Given the description of an element on the screen output the (x, y) to click on. 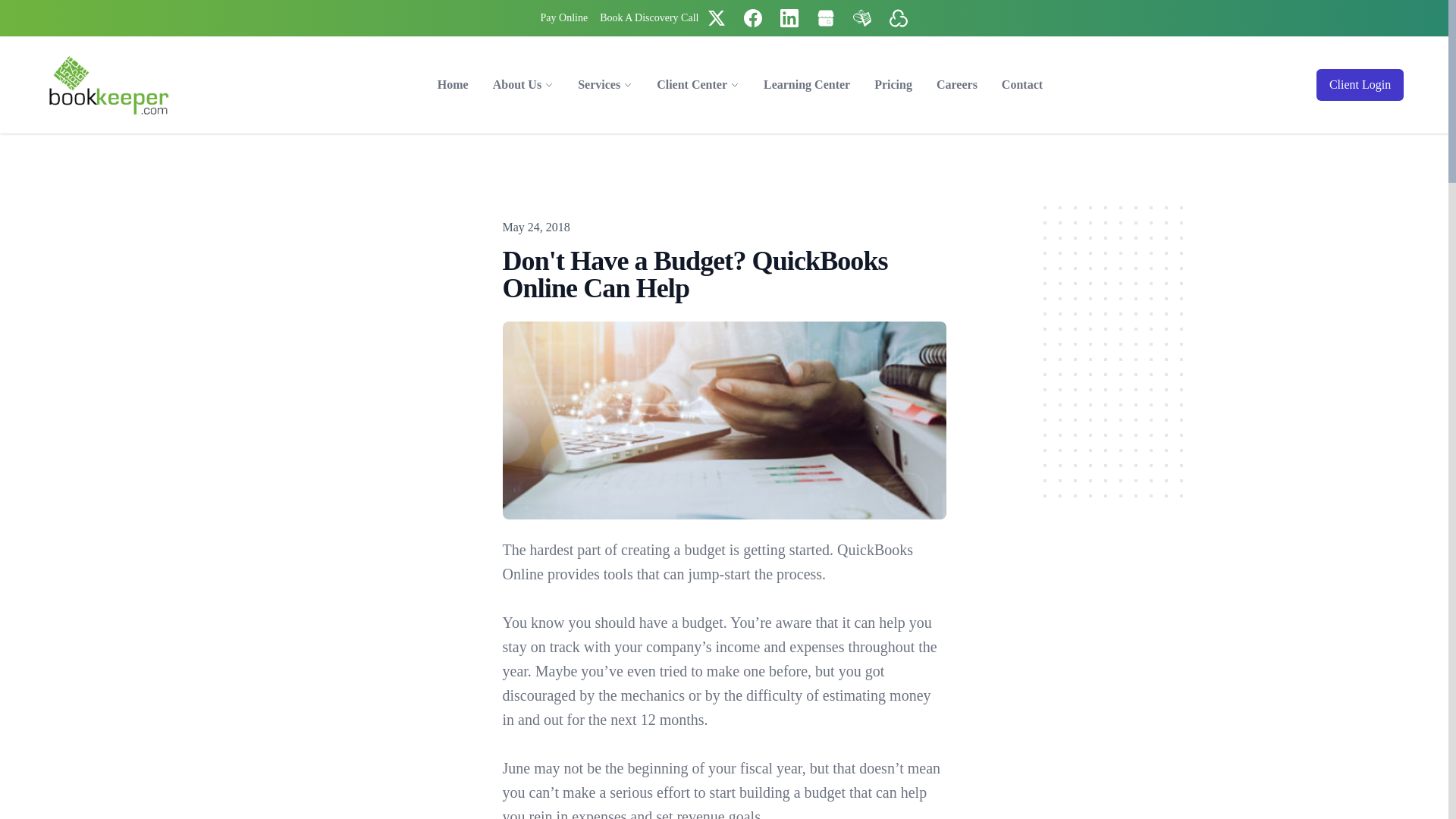
Home (452, 84)
Bookkeeper.com (108, 84)
Client Login (1359, 84)
Learning Center (806, 84)
Client Center (691, 85)
Contact (1022, 84)
Book A Discovery Call (648, 17)
Careers (957, 84)
Pricing (892, 84)
Pay Online (564, 17)
